Given the description of an element on the screen output the (x, y) to click on. 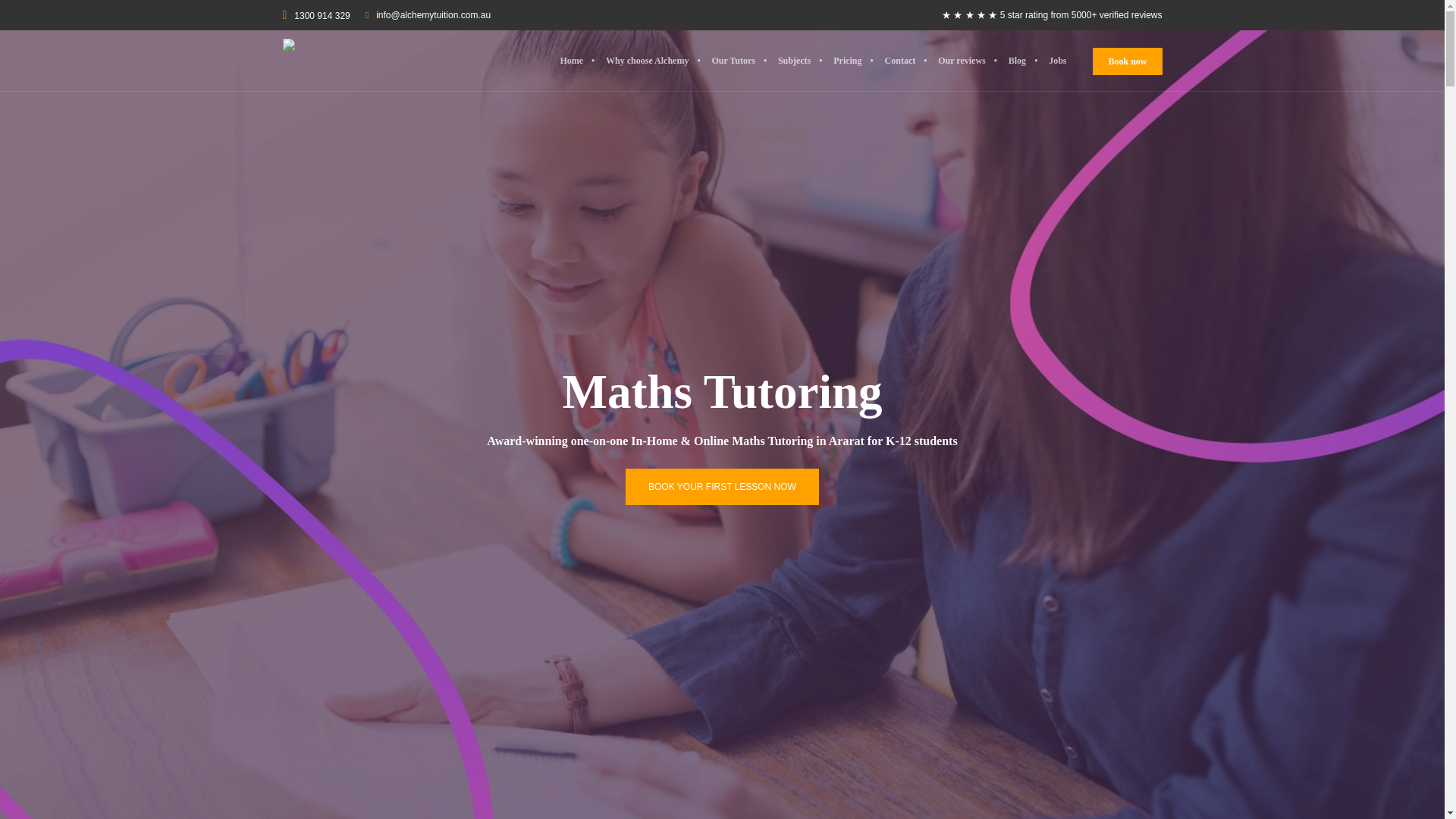
Book now (1127, 61)
View Parent Feedback (1051, 15)
BOOK YOUR FIRST LESSON NOW (722, 486)
Our reviews (961, 60)
Our Tutors (732, 60)
Why choose Alchemy (647, 60)
Subjects (794, 60)
